Given the description of an element on the screen output the (x, y) to click on. 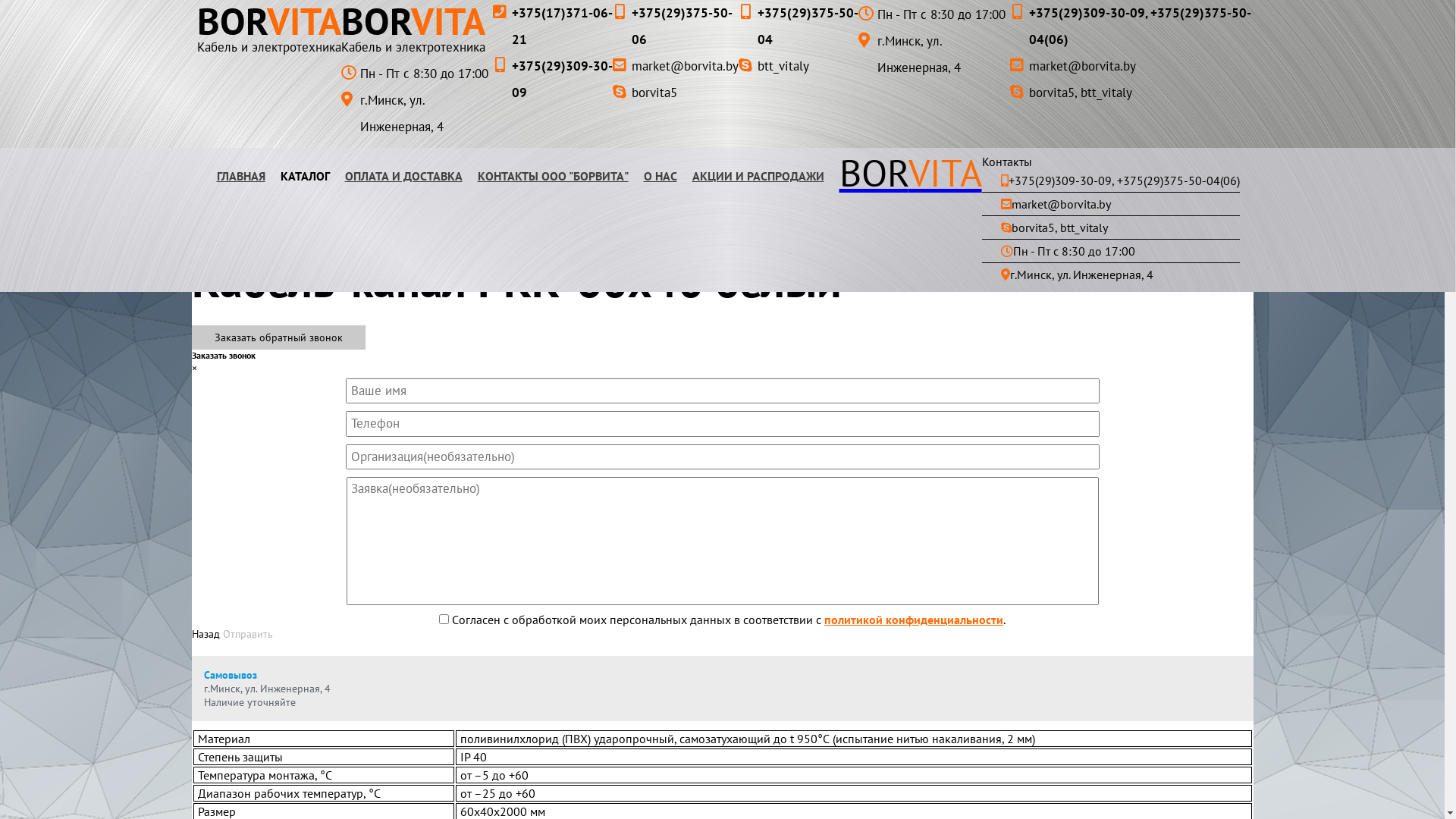
BORVITA Element type: text (416, 20)
BORVITA Element type: text (269, 20)
BORVITA Element type: text (909, 172)
